Given the description of an element on the screen output the (x, y) to click on. 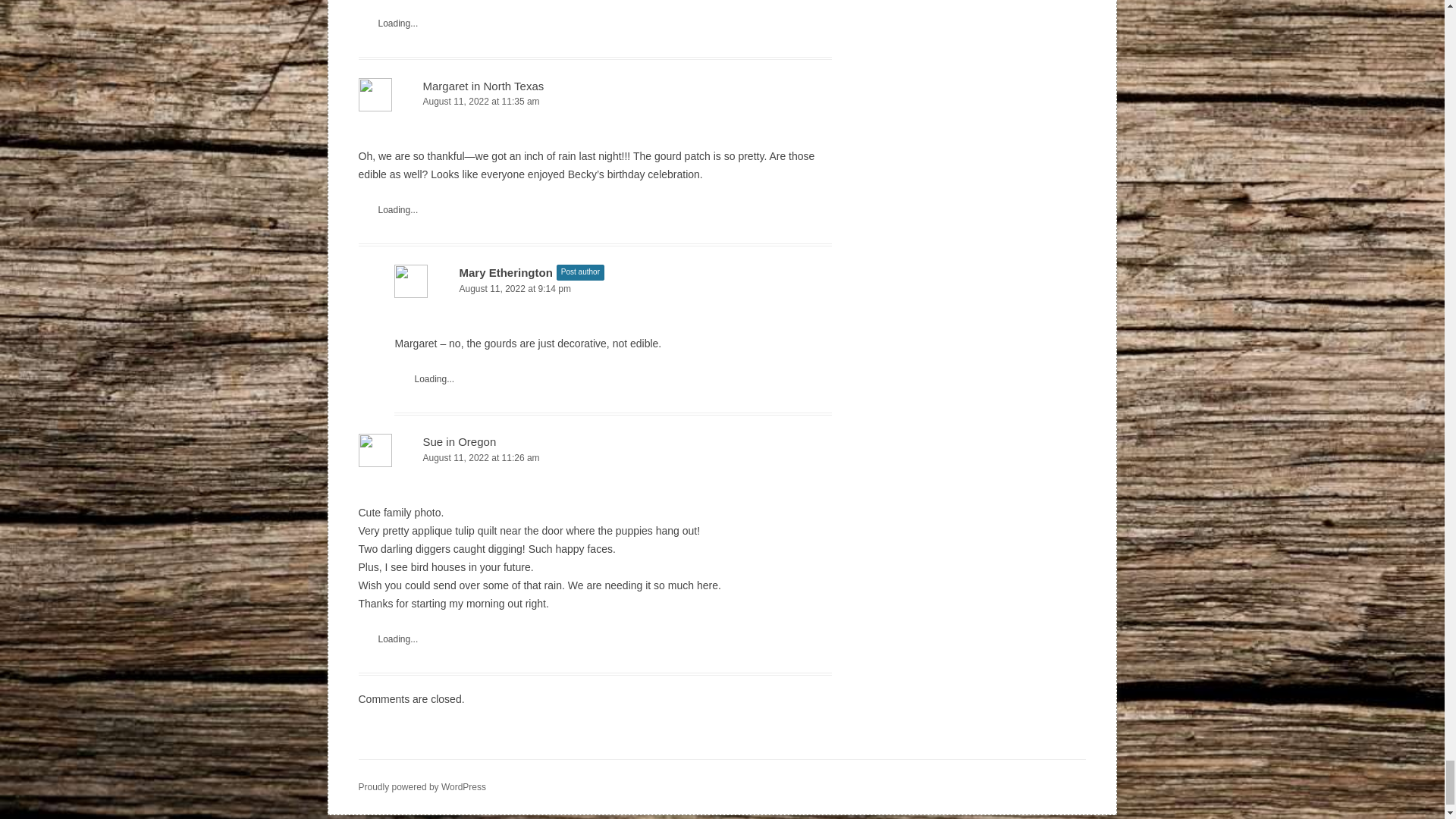
Semantic Personal Publishing Platform (422, 787)
